Given the description of an element on the screen output the (x, y) to click on. 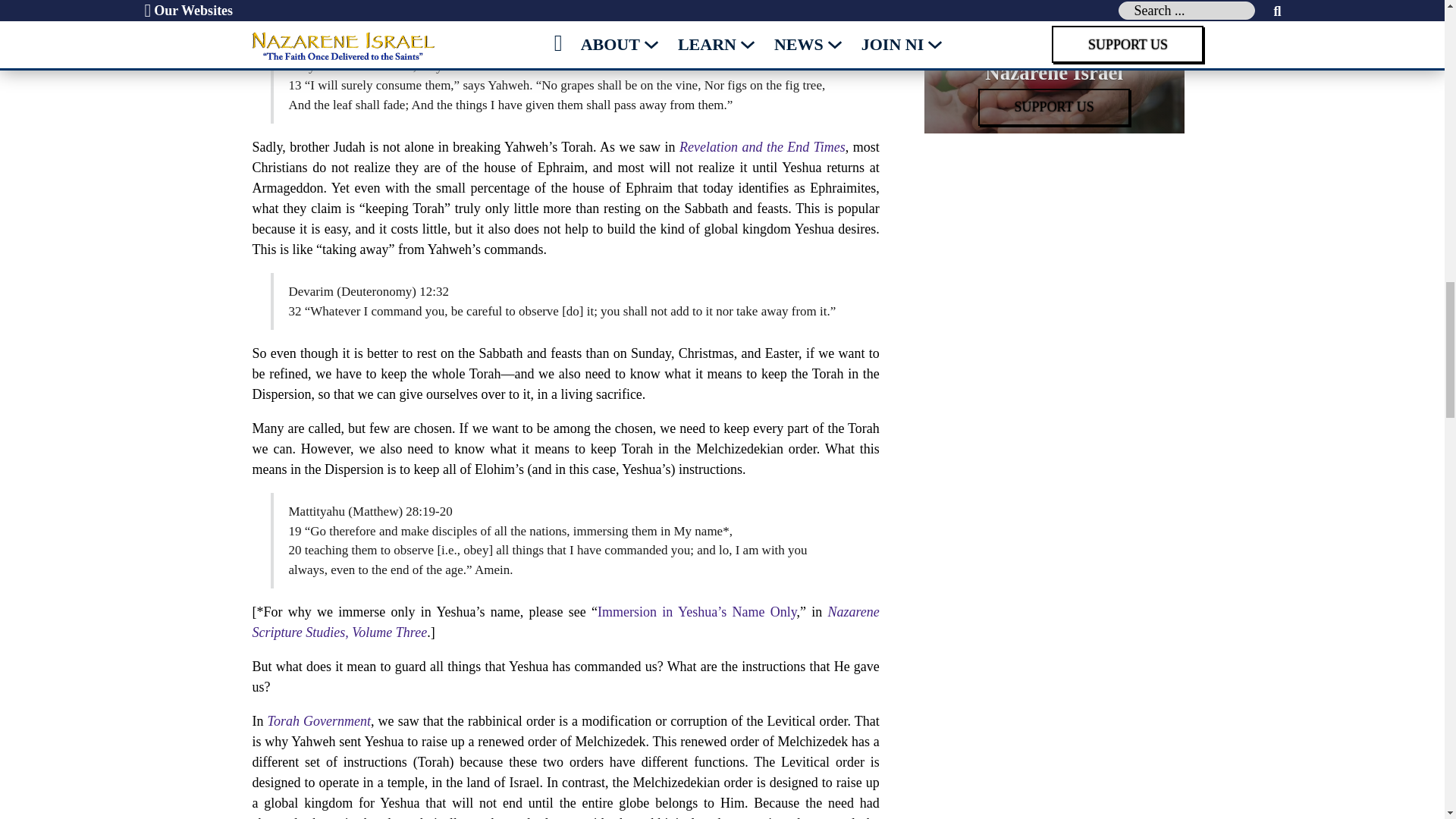
Revelation and the End Times (762, 146)
Torah Government (319, 720)
Nazarene Scripture Studies, Volume Three (565, 621)
